Given the description of an element on the screen output the (x, y) to click on. 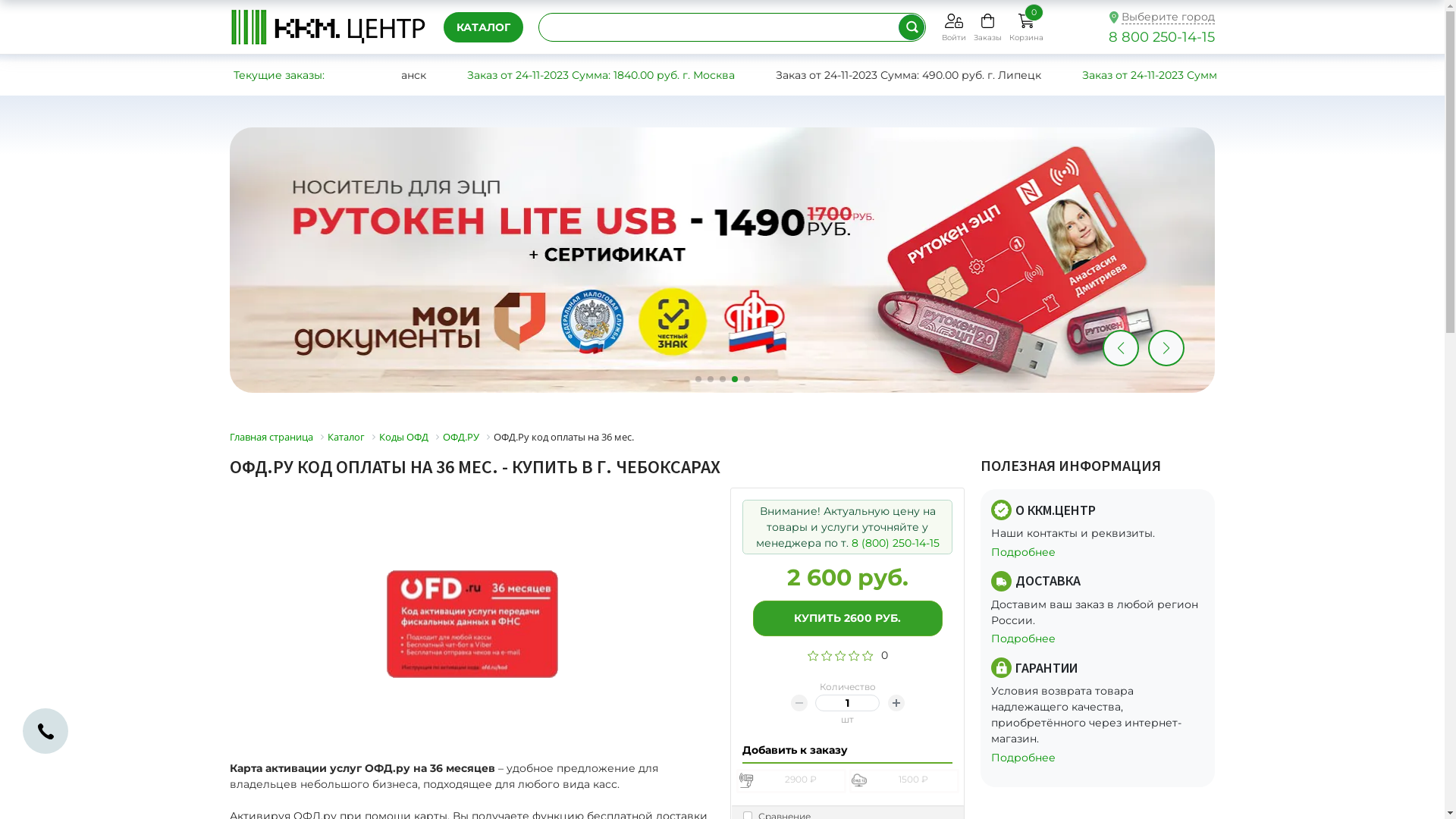
4 Element type: hover (853, 654)
3 Element type: hover (839, 654)
5 Element type: hover (866, 654)
8 (800) 250-14-15 Element type: text (894, 542)
1 Element type: hover (812, 654)
2 Element type: hover (825, 654)
